Given the description of an element on the screen output the (x, y) to click on. 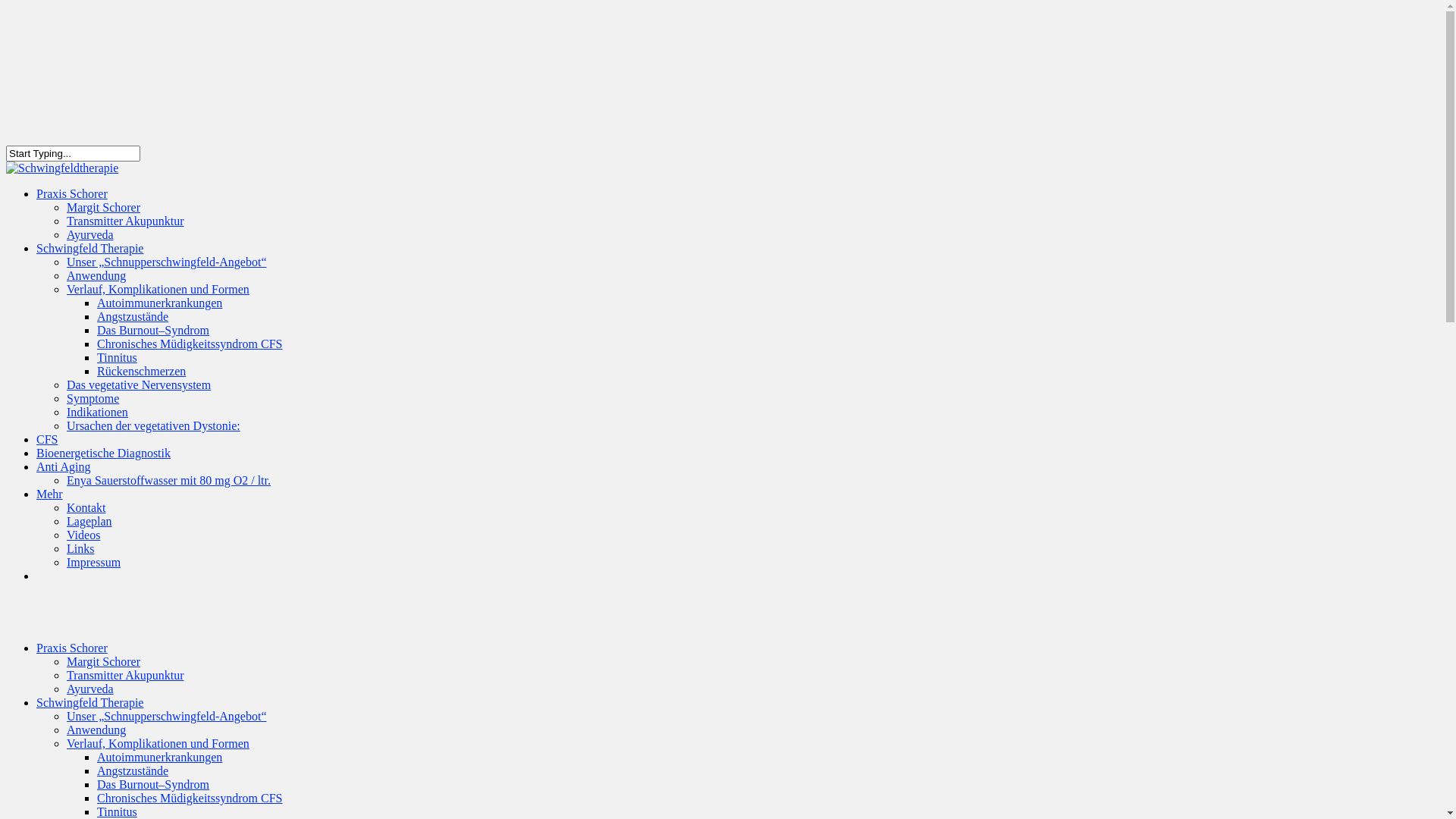
Praxis Schorer Element type: text (71, 647)
Transmitter Akupunktur Element type: text (125, 674)
Tinnitus Element type: text (117, 357)
Transmitter Akupunktur Element type: text (125, 220)
Ayurveda Element type: text (89, 234)
Verlauf, Komplikationen und Formen Element type: text (157, 743)
CFS Element type: text (46, 449)
Mehr Element type: text (49, 504)
Indikationen Element type: text (97, 411)
Anwendung Element type: text (95, 729)
Bioenergetische Diagnostik Element type: text (103, 463)
Ayurveda Element type: text (89, 688)
Ursachen der vegetativen Dystonie: Element type: text (153, 425)
Links Element type: text (80, 548)
Anwendung Element type: text (95, 275)
Videos Element type: text (83, 534)
Kontakt Element type: text (86, 507)
Schwingfeld Therapie Element type: text (89, 258)
Impressum Element type: text (93, 561)
Autoimmunerkrankungen Element type: text (159, 756)
Margit Schorer Element type: text (103, 206)
Das vegetative Nervensystem Element type: text (138, 384)
Praxis Schorer Element type: text (71, 203)
Verlauf, Komplikationen und Formen Element type: text (157, 288)
Autoimmunerkrankungen Element type: text (159, 302)
Margit Schorer Element type: text (103, 661)
Lageplan Element type: text (89, 520)
Symptome Element type: text (92, 398)
Schwingfeld Therapie Element type: text (89, 702)
Anti Aging Element type: text (63, 476)
Enya Sauerstoffwasser mit 80 mg O2 / ltr. Element type: text (168, 479)
Tinnitus Element type: text (117, 811)
